Given the description of an element on the screen output the (x, y) to click on. 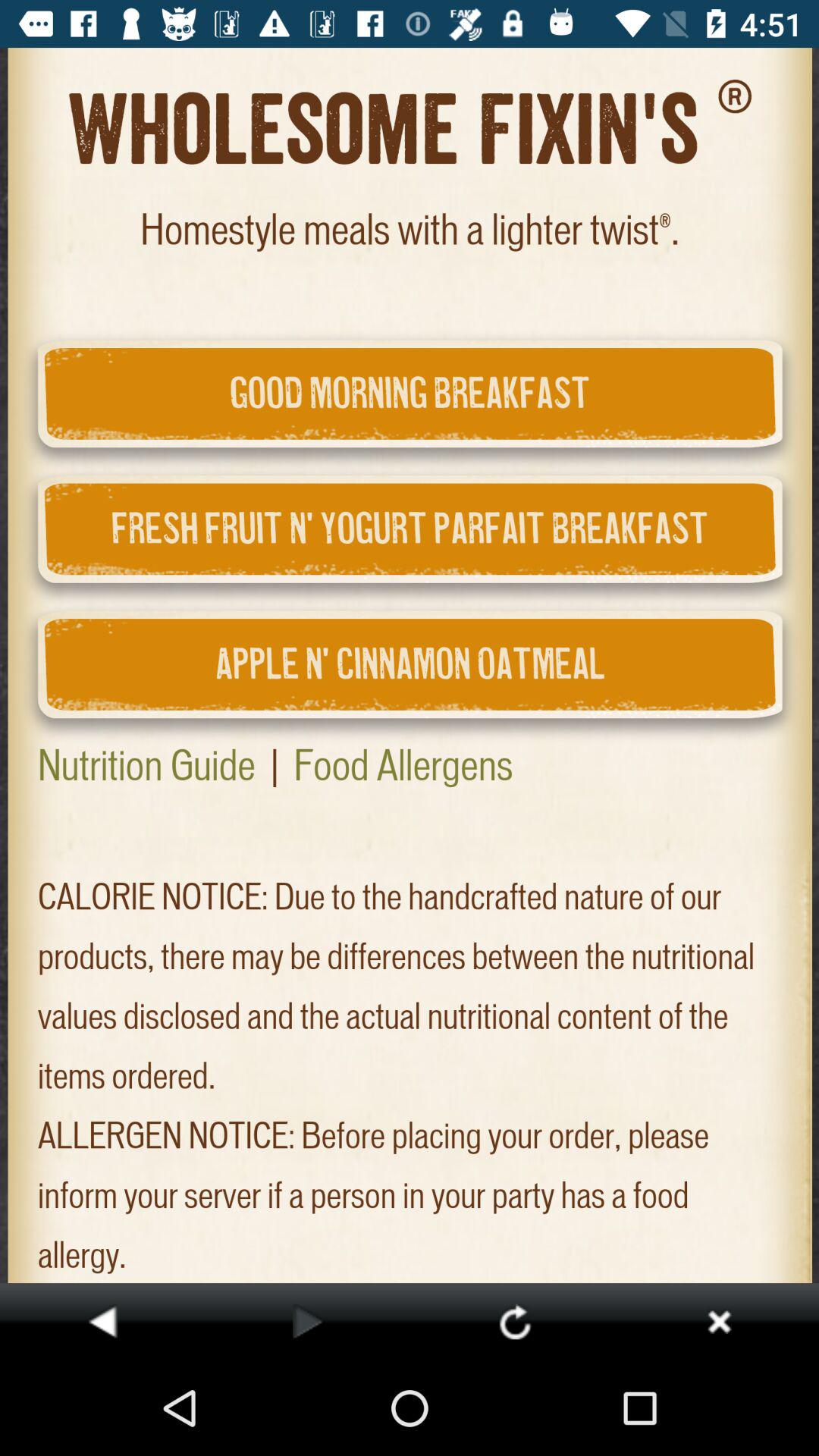
this button backspace (102, 1321)
